Given the description of an element on the screen output the (x, y) to click on. 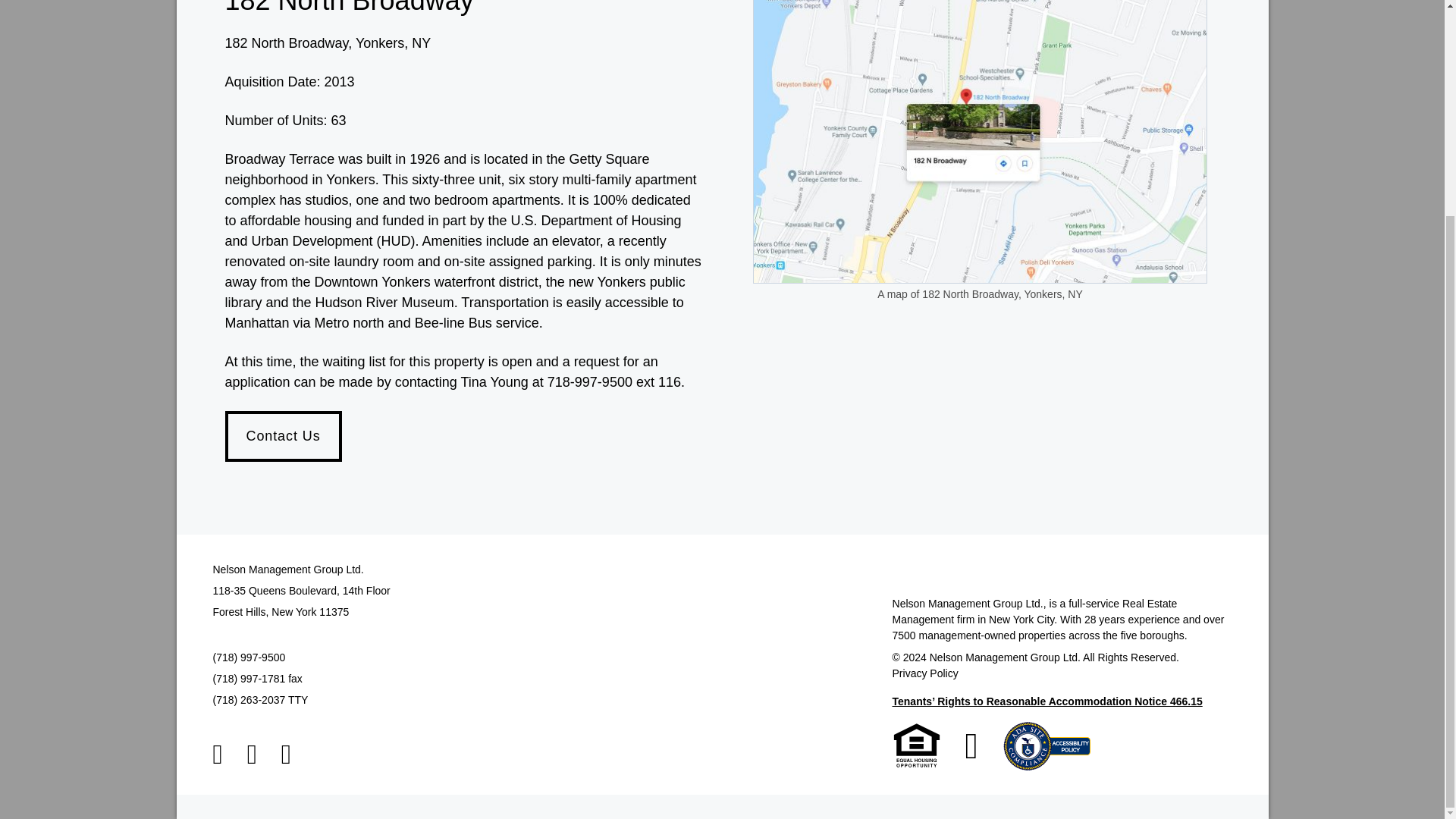
Contact Us (282, 436)
Privacy Policy (925, 673)
